Given the description of an element on the screen output the (x, y) to click on. 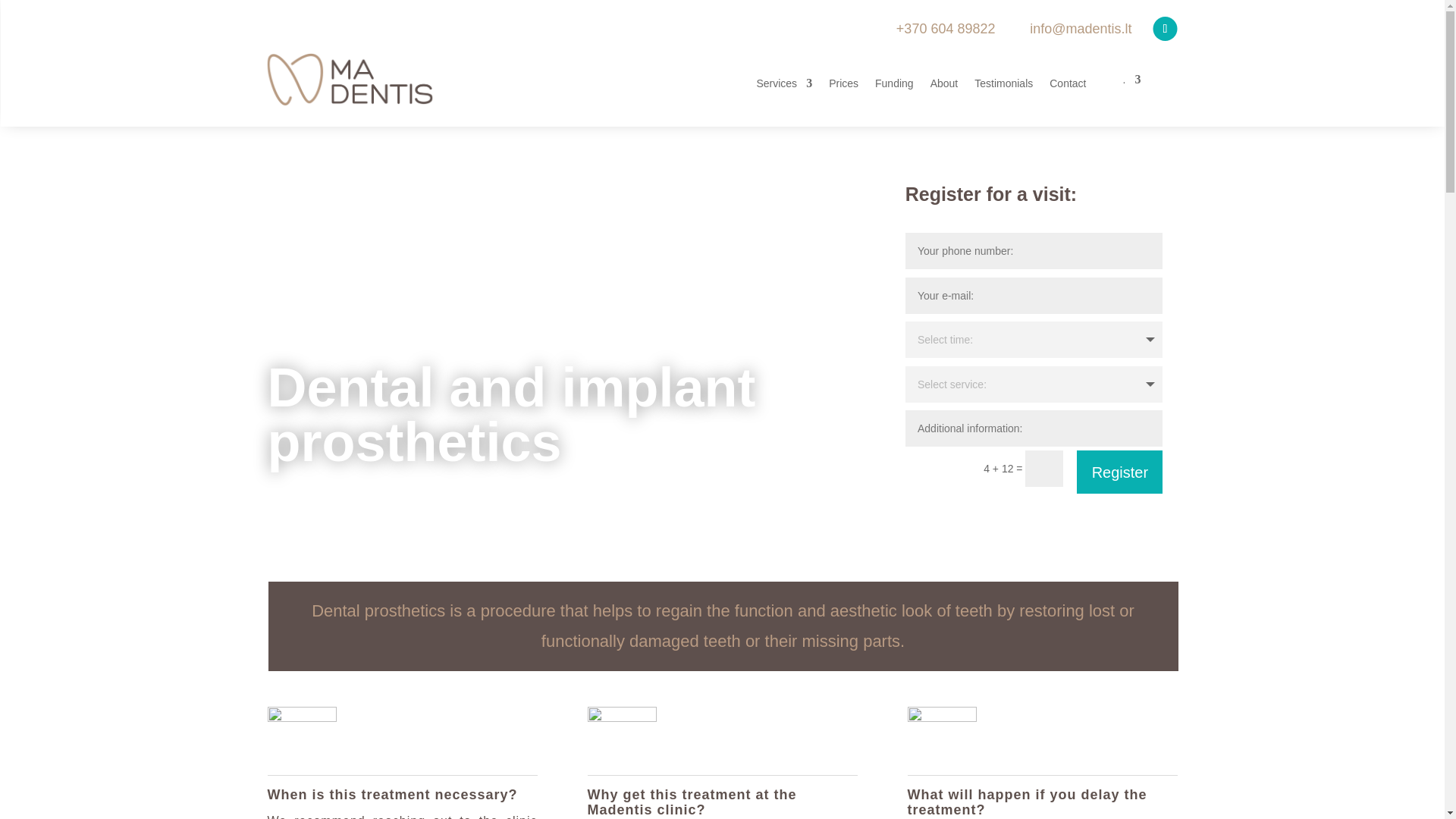
Services (783, 83)
Testimonials (1003, 83)
Follow on Facebook (1164, 28)
. (1131, 82)
